Given the description of an element on the screen output the (x, y) to click on. 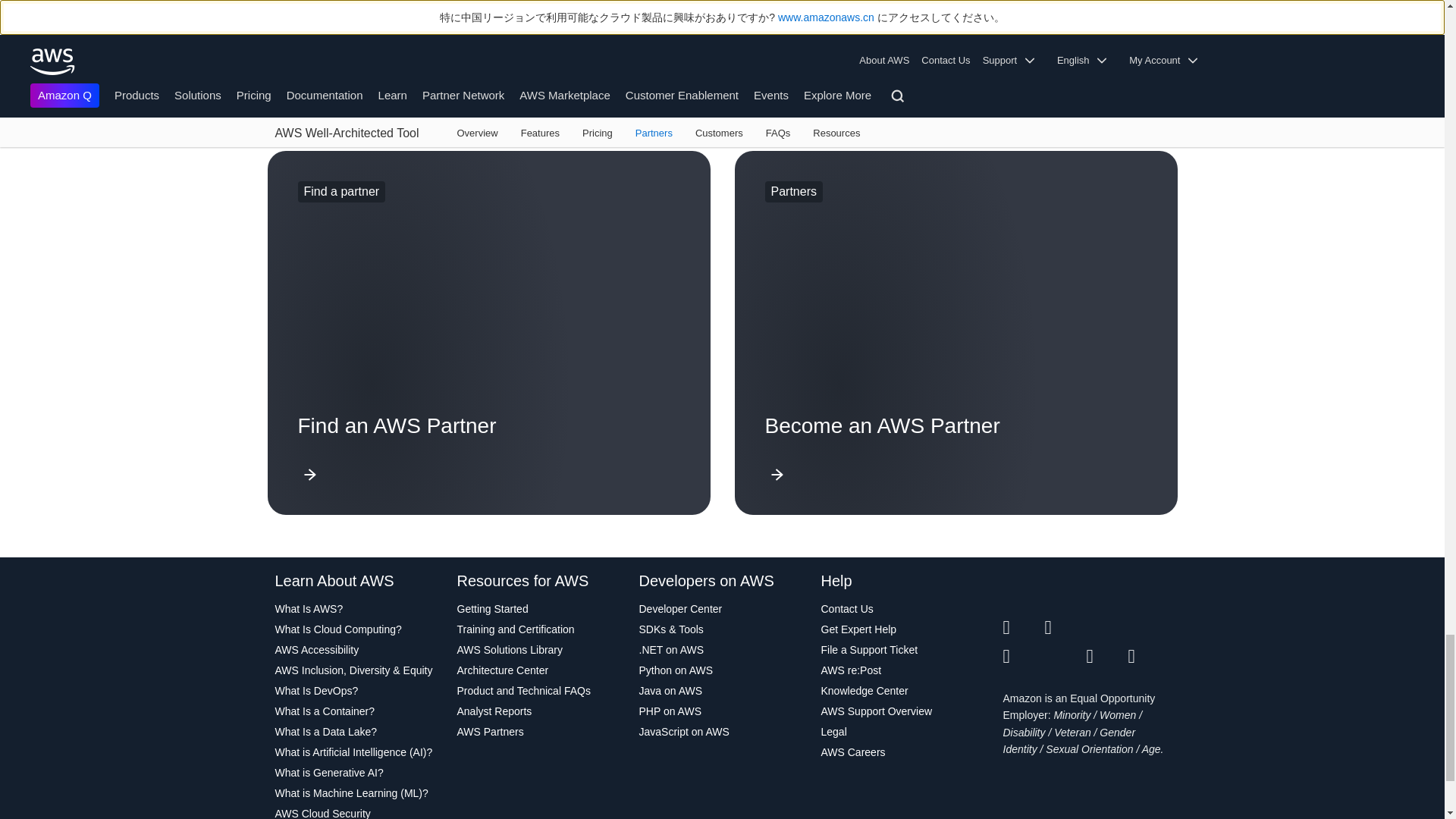
Twitter (1023, 627)
Email (1149, 656)
Linkedin (1106, 627)
Twitch (1023, 656)
Podcast (1106, 656)
YouTube (1065, 656)
Facebook (1065, 627)
Instagram (1149, 627)
